Given the description of an element on the screen output the (x, y) to click on. 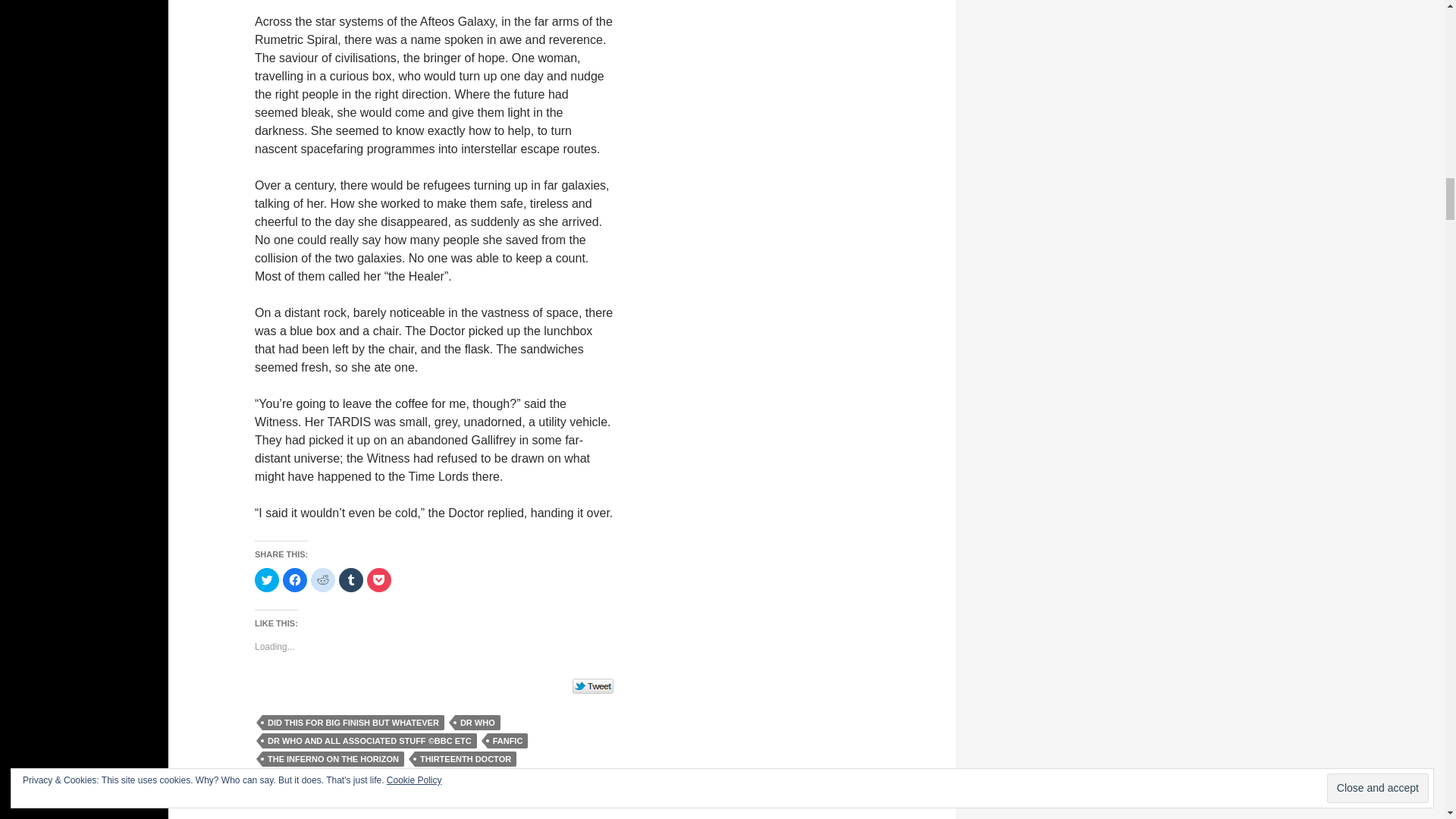
DID THIS FOR BIG FINISH BUT WHATEVER (353, 722)
Click to share on Reddit (322, 580)
Tweet (593, 686)
DR WHO (477, 722)
FANFIC (507, 740)
THIRTEENTH DOCTOR (465, 758)
Click to share on Facebook (294, 580)
Click to share on Pocket (378, 580)
Click to share on Tumblr (350, 580)
Click to share on Twitter (266, 580)
